Given the description of an element on the screen output the (x, y) to click on. 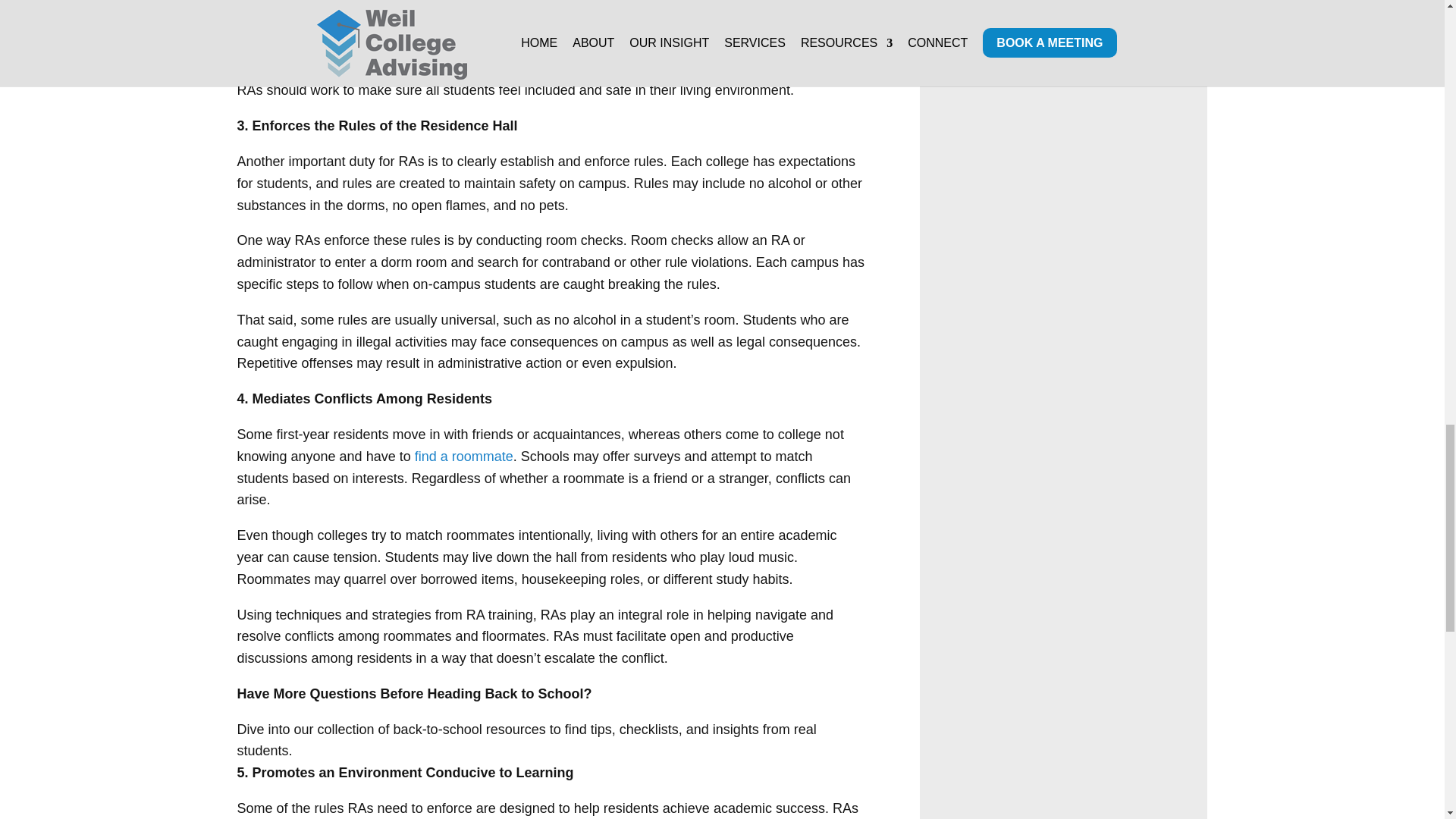
find a roommate (463, 456)
